Given the description of an element on the screen output the (x, y) to click on. 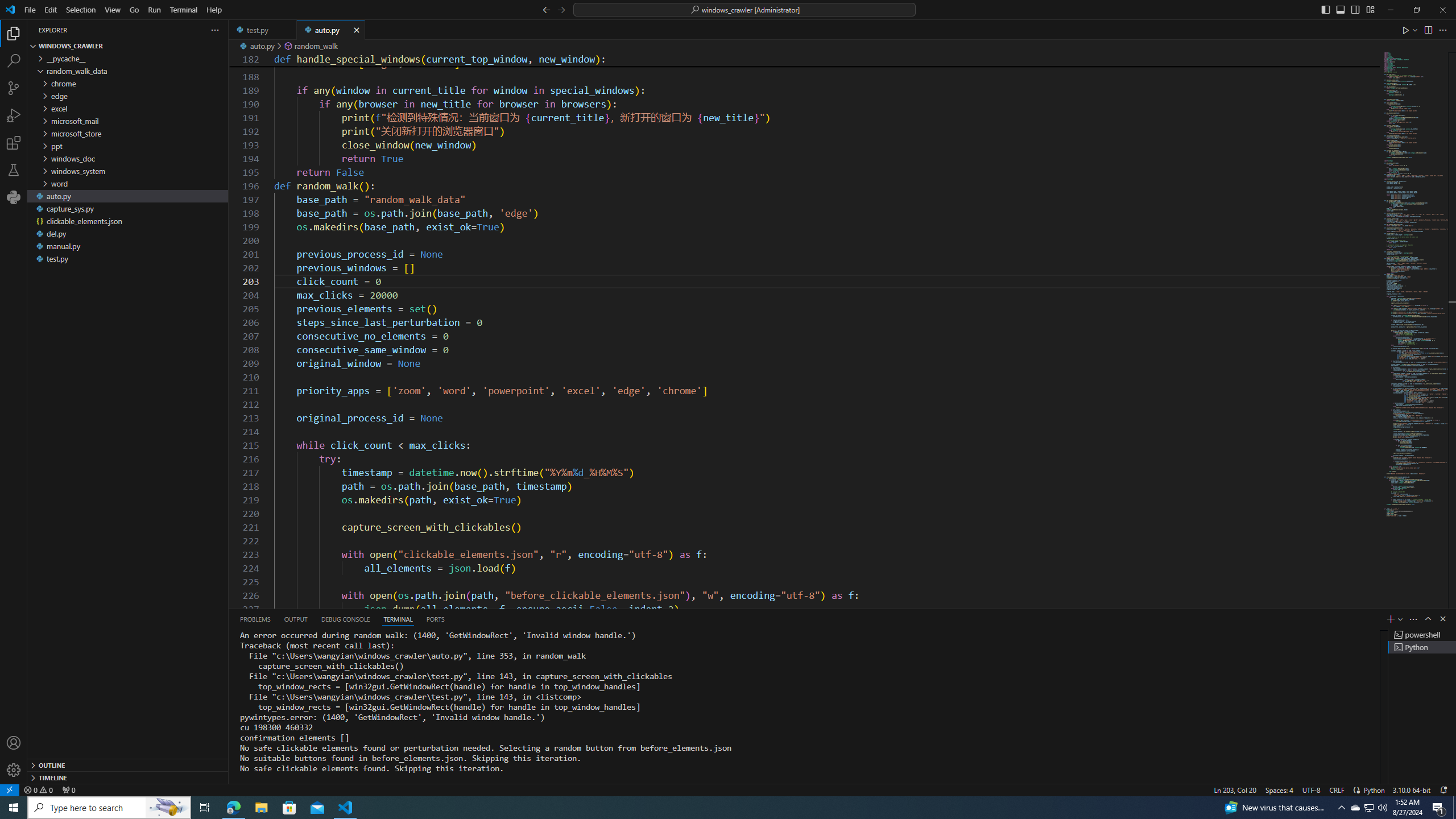
Terminal 3 Python (1422, 647)
Search (Ctrl+Shift+F) (13, 60)
Terminal (183, 9)
Run (153, 9)
remote (9, 789)
More Actions... (1442, 29)
Problems (Ctrl+Shift+M) (255, 618)
Go Back (Alt+LeftArrow) (546, 9)
CRLF (1336, 789)
Spaces: 4 (1278, 789)
Ports (435, 618)
